Given the description of an element on the screen output the (x, y) to click on. 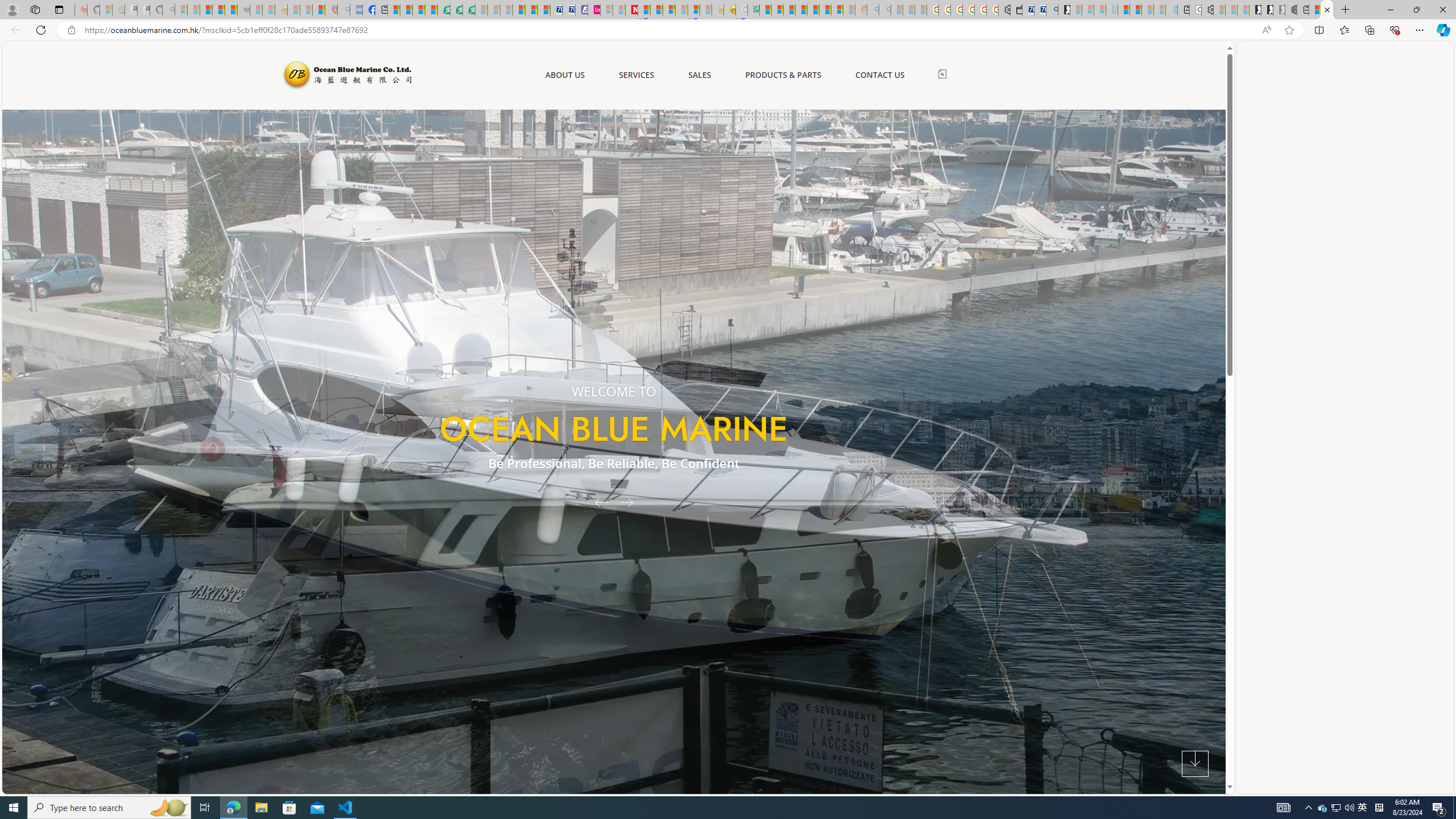
LendingTree - Compare Lenders (443, 9)
